Given the description of an element on the screen output the (x, y) to click on. 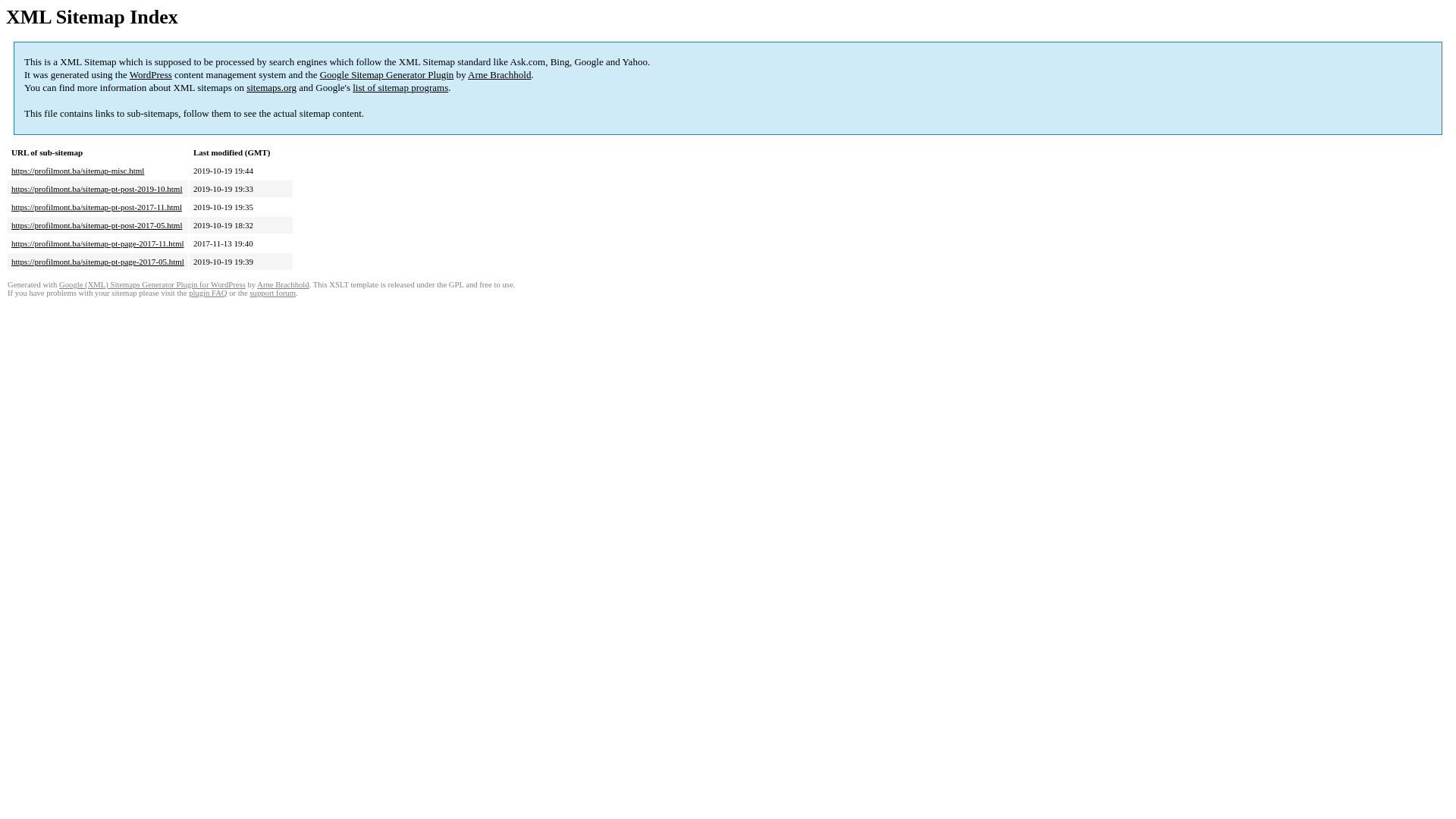
https://profilmont.ba/sitemap-misc.html Element type: text (77, 170)
Arne Brachhold Element type: text (282, 284)
https://profilmont.ba/sitemap-pt-page-2017-11.html Element type: text (97, 242)
https://profilmont.ba/sitemap-pt-post-2019-10.html Element type: text (96, 188)
support forum Element type: text (272, 292)
https://profilmont.ba/sitemap-pt-post-2017-05.html Element type: text (96, 224)
WordPress Element type: text (150, 74)
list of sitemap programs Element type: text (400, 87)
Google (XML) Sitemaps Generator Plugin for WordPress Element type: text (152, 284)
Arne Brachhold Element type: text (498, 74)
sitemaps.org Element type: text (271, 87)
https://profilmont.ba/sitemap-pt-page-2017-05.html Element type: text (97, 261)
https://profilmont.ba/sitemap-pt-post-2017-11.html Element type: text (96, 206)
plugin FAQ Element type: text (207, 292)
Google Sitemap Generator Plugin Element type: text (387, 74)
